Given the description of an element on the screen output the (x, y) to click on. 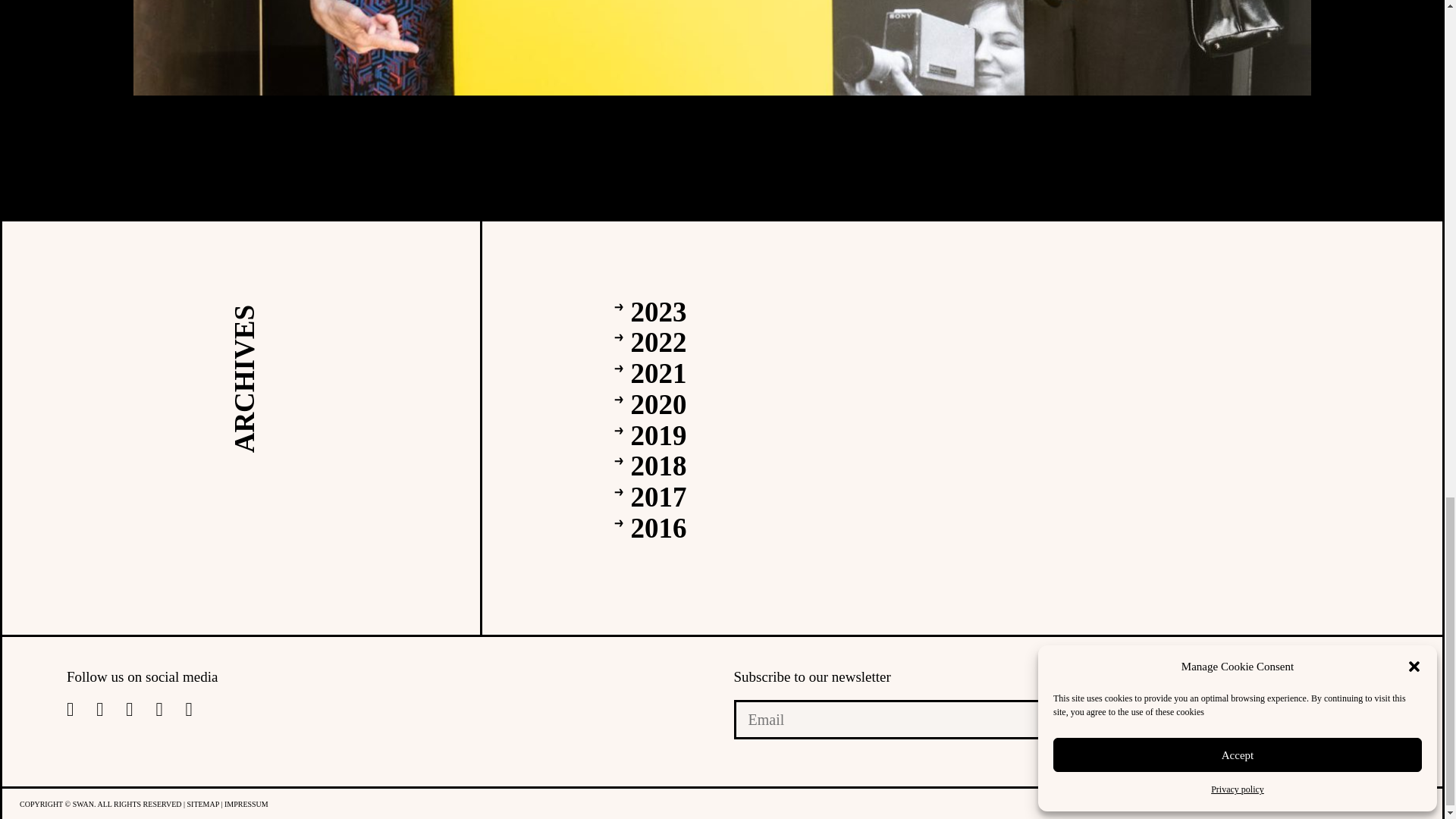
Confirm (1339, 719)
